Given the description of an element on the screen output the (x, y) to click on. 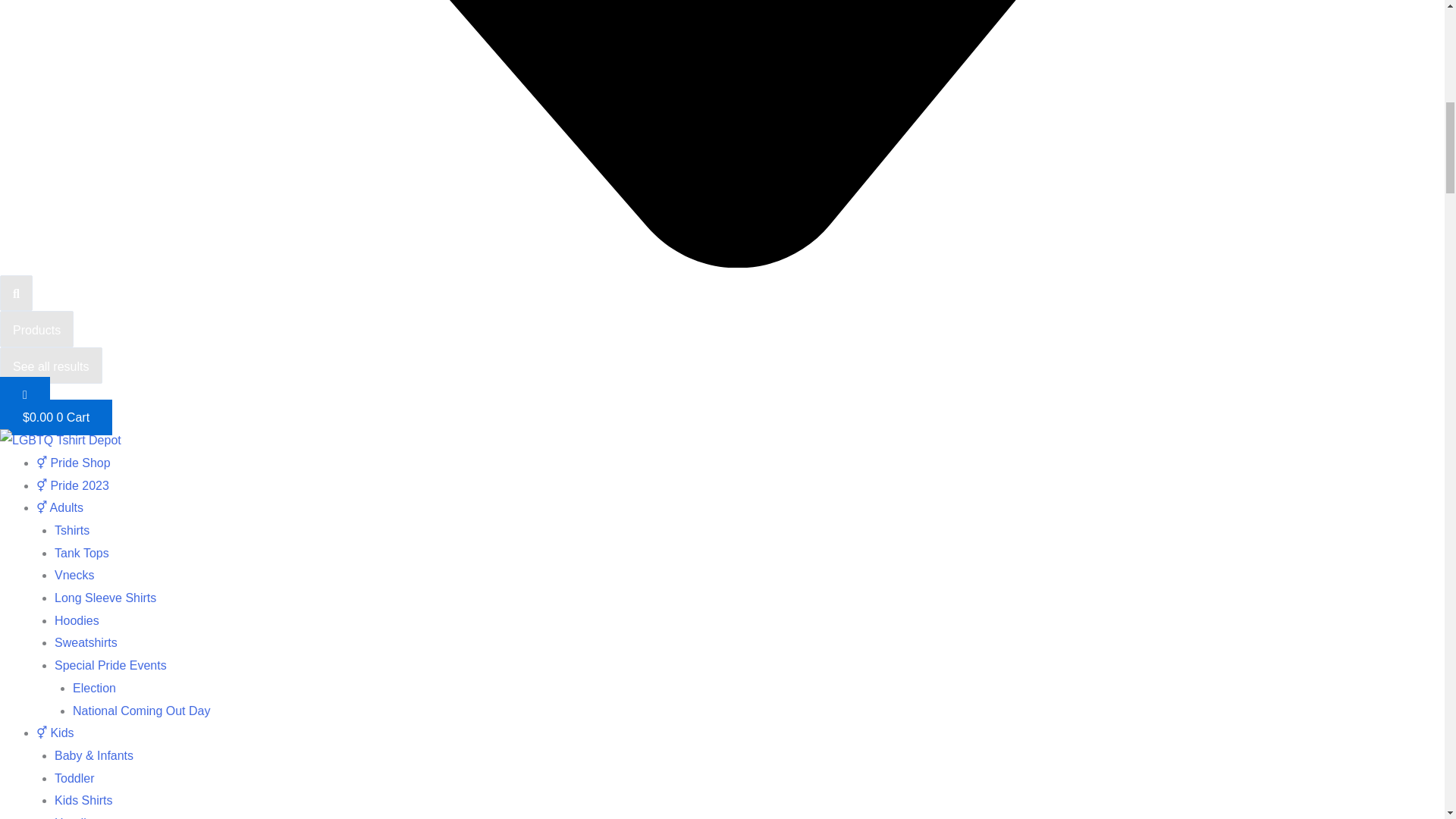
Toddler (74, 778)
Vnecks (74, 574)
Tank Tops (82, 553)
Election (94, 687)
Sweatshirts (86, 642)
Kids Shirts (83, 799)
Long Sleeve Shirts (105, 597)
Hoodies (77, 817)
Tshirts (71, 530)
Special Pride Events (111, 665)
National Coming Out Day (140, 710)
Products (37, 329)
Hoodies (77, 620)
See all results (50, 365)
